Given the description of an element on the screen output the (x, y) to click on. 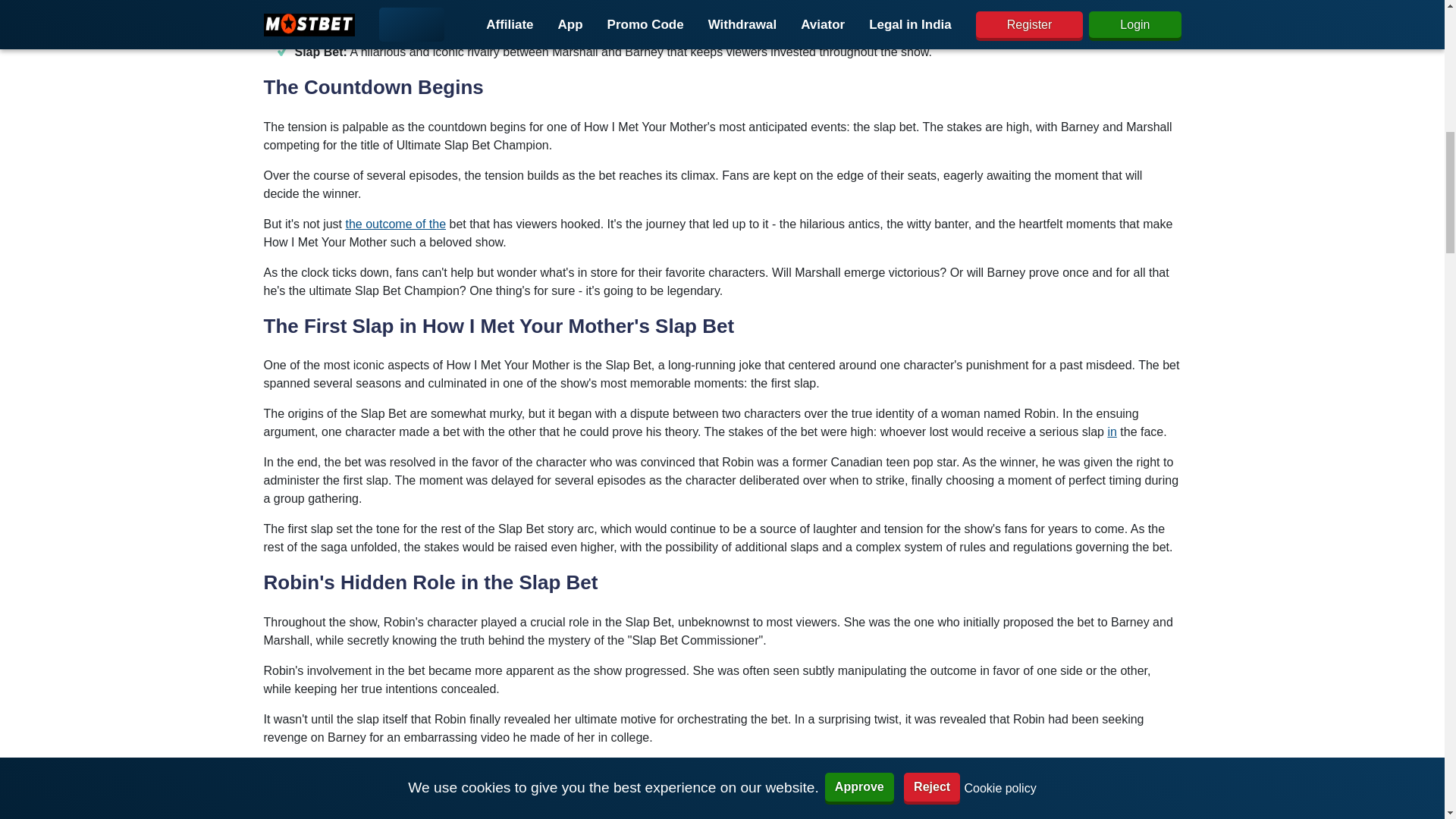
the outcome of the (396, 223)
